Given the description of an element on the screen output the (x, y) to click on. 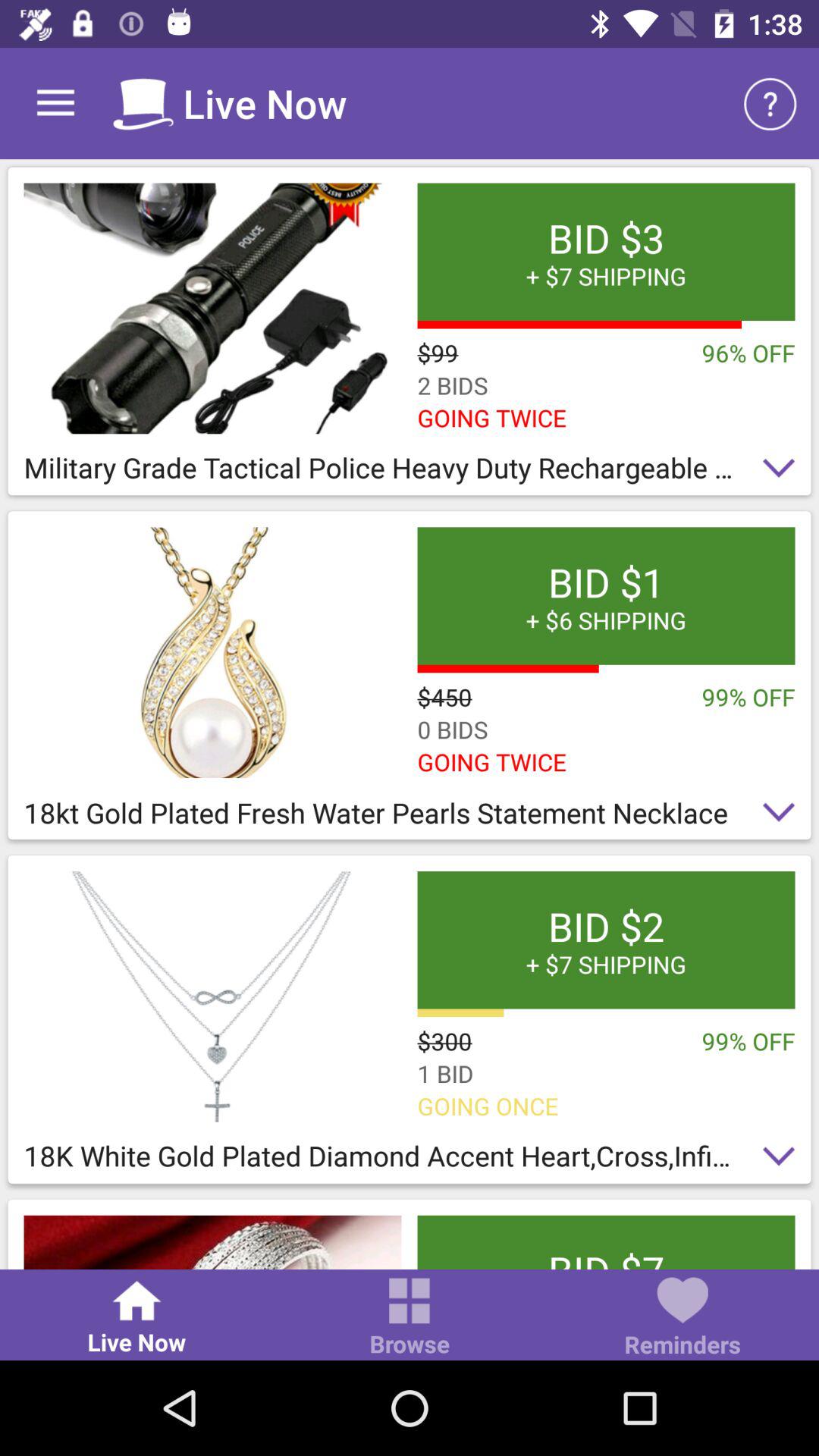
enlarge image (212, 1242)
